Given the description of an element on the screen output the (x, y) to click on. 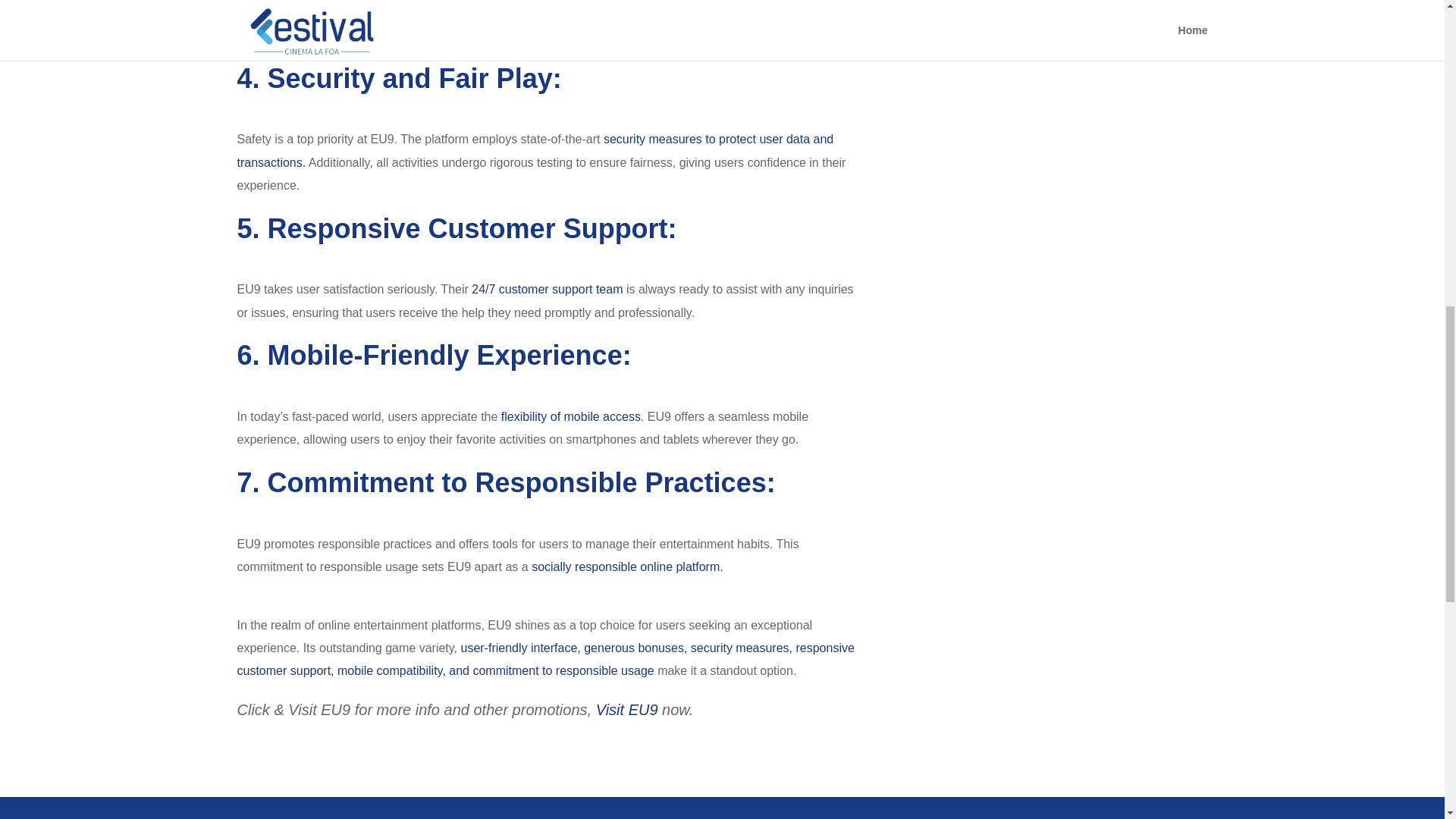
socially responsible online platform. (627, 566)
security measures to protect user data and transactions. (533, 150)
flexibility of mobile access (570, 416)
EU9 goes the extra mile to reward its users. (676, 34)
Visit EU9 (626, 709)
